Given the description of an element on the screen output the (x, y) to click on. 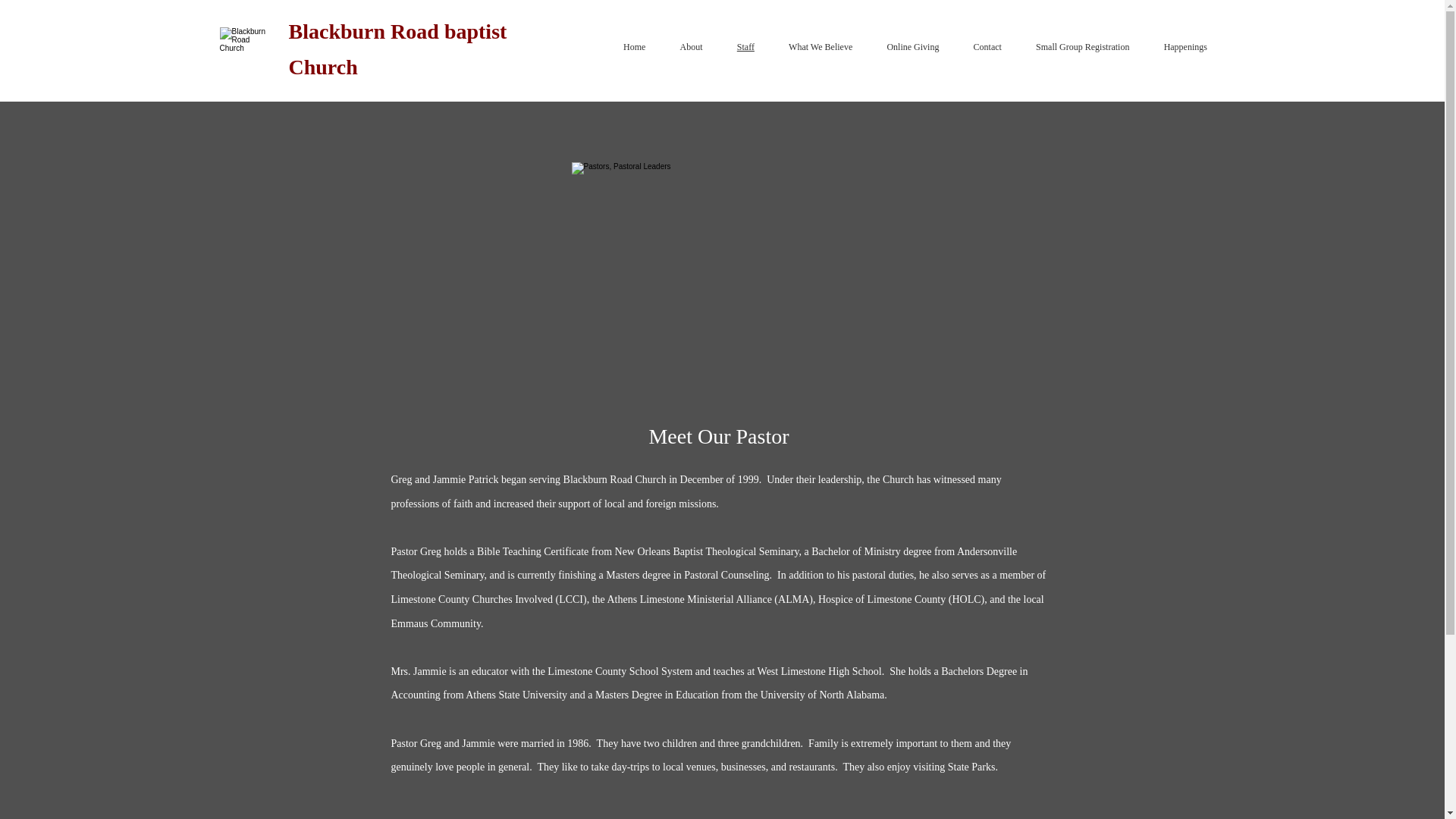
What We Believe (820, 47)
About (690, 47)
Online Giving (912, 47)
Staff (745, 47)
Contact (987, 47)
Happenings (1185, 47)
Small Group Registration (1083, 47)
Home (635, 47)
